Given the description of an element on the screen output the (x, y) to click on. 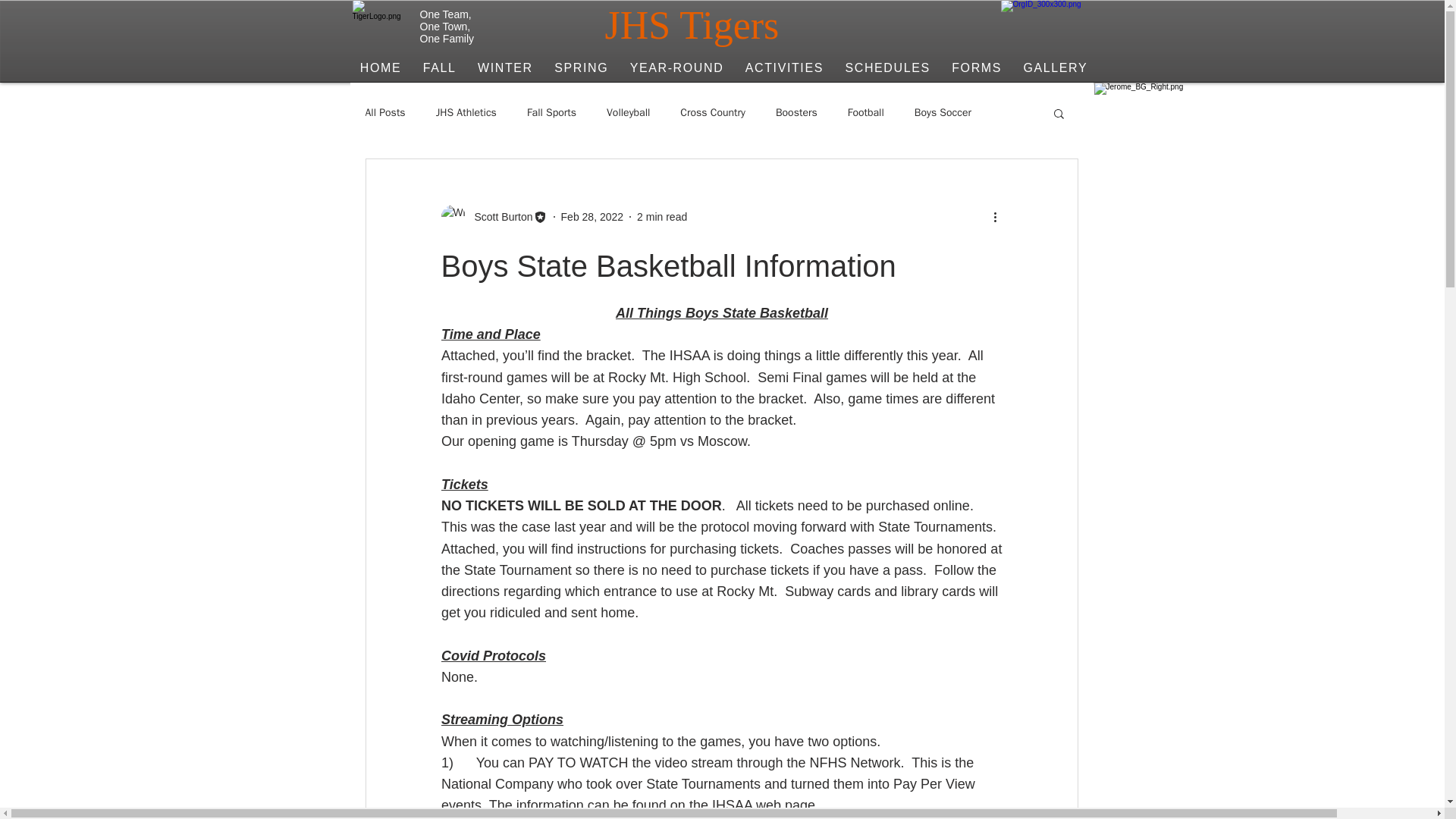
Feb 28, 2022 (592, 216)
FORMS (976, 68)
HOME (380, 68)
Scott Burton (498, 217)
GALLERY (1054, 68)
2 min read (662, 216)
